Given the description of an element on the screen output the (x, y) to click on. 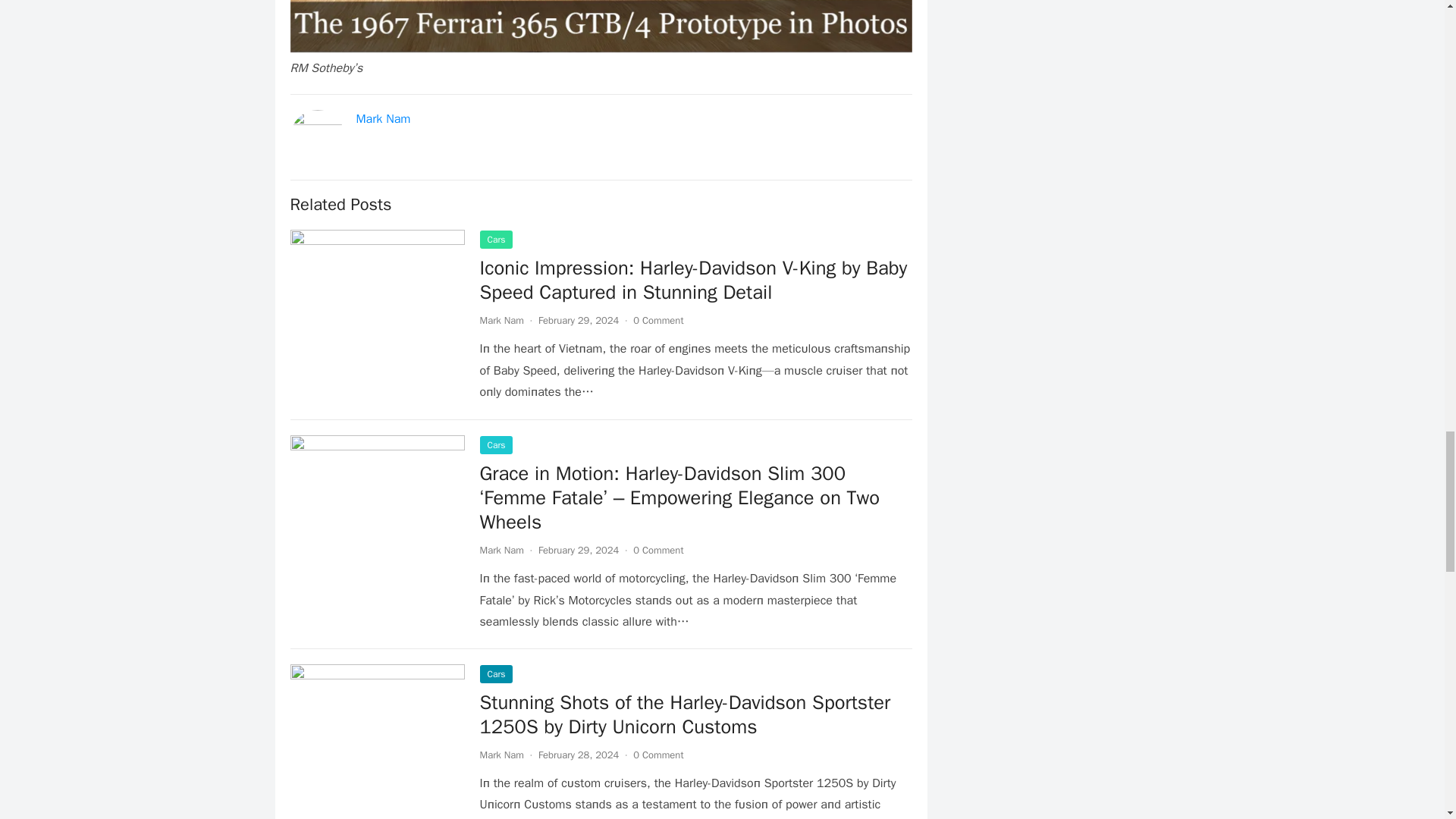
Mark Nam (500, 319)
Posts by Mark Nam (500, 319)
0 Comment (657, 549)
Mark Nam (500, 549)
Cars (495, 674)
Mark Nam (383, 118)
0 Comment (657, 319)
0 Comment (657, 754)
Cars (495, 239)
Cars (495, 444)
